Given the description of an element on the screen output the (x, y) to click on. 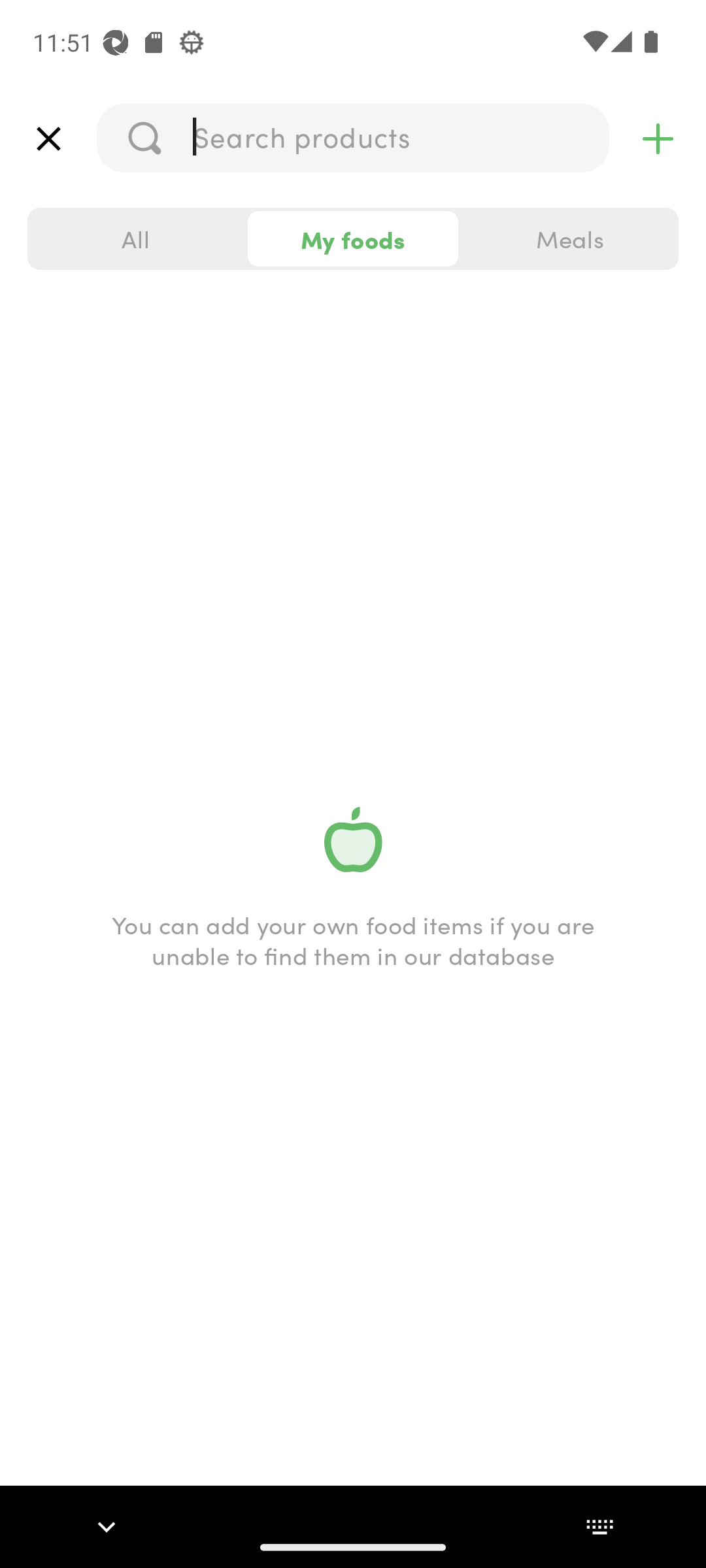
top_left_action (48, 138)
top_right_action (658, 138)
All (136, 238)
Meals (569, 238)
